Given the description of an element on the screen output the (x, y) to click on. 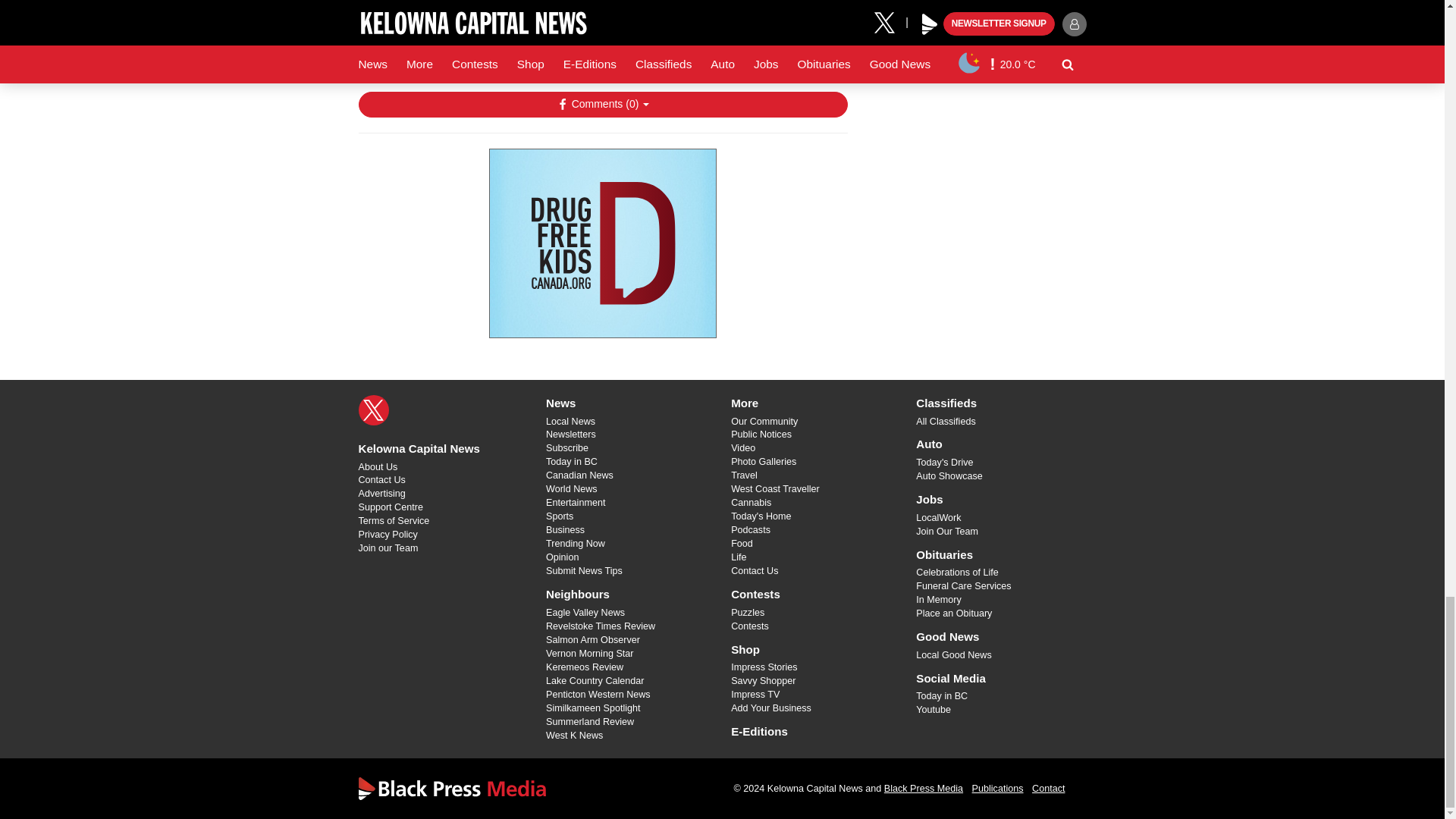
Show Comments (602, 104)
X (373, 409)
3rd party ad content (602, 243)
